Given the description of an element on the screen output the (x, y) to click on. 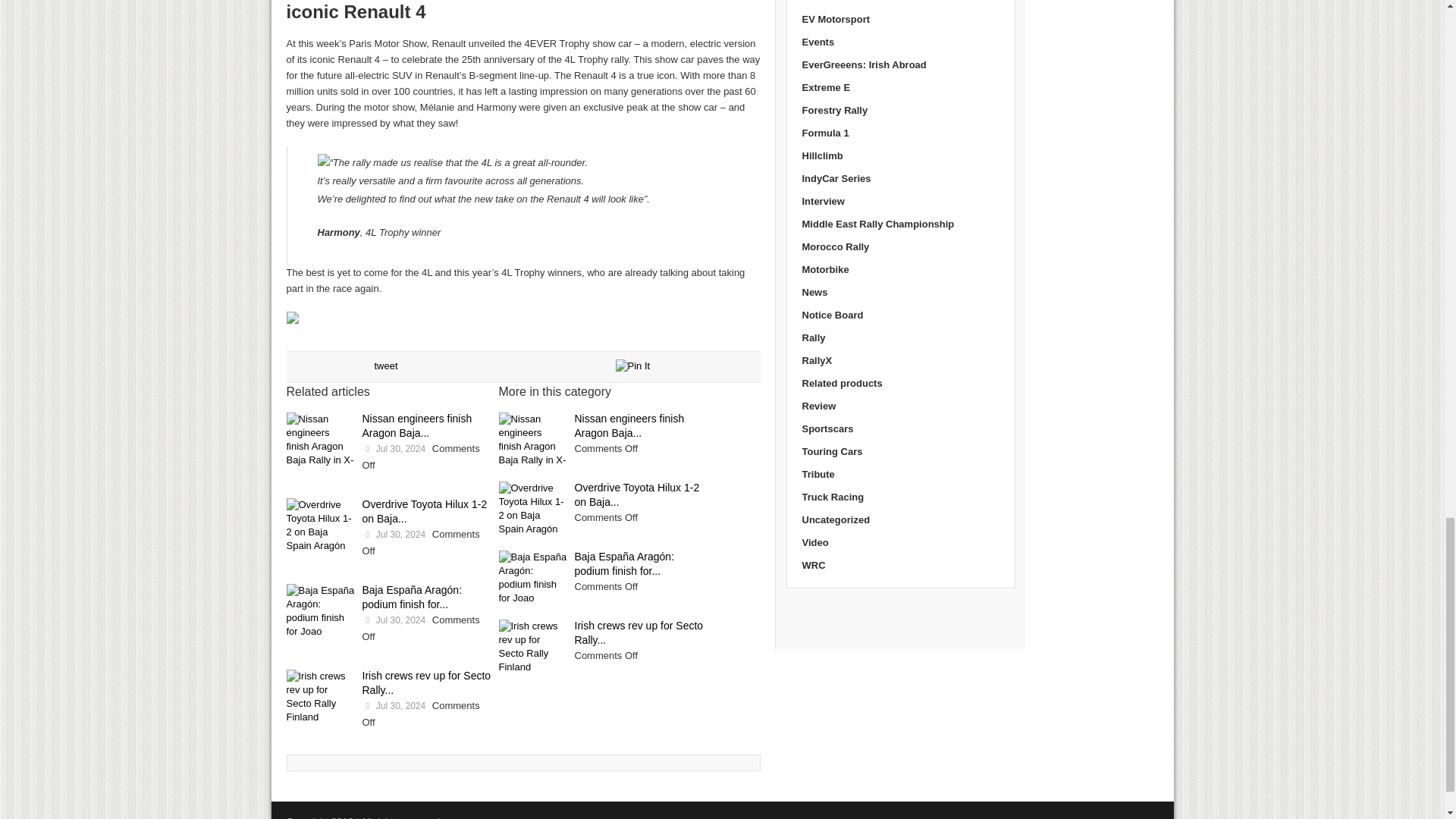
Overdrive Toyota Hilux 1-2 on Baja... (424, 510)
Permanent link to Irish crews rev up for Secto Rally Finland (427, 682)
Pin It (632, 366)
Irish crews rev up for Secto Rally Finland (320, 697)
tweet (385, 365)
Nissan engineers finish Aragon Baja... (416, 425)
